Given the description of an element on the screen output the (x, y) to click on. 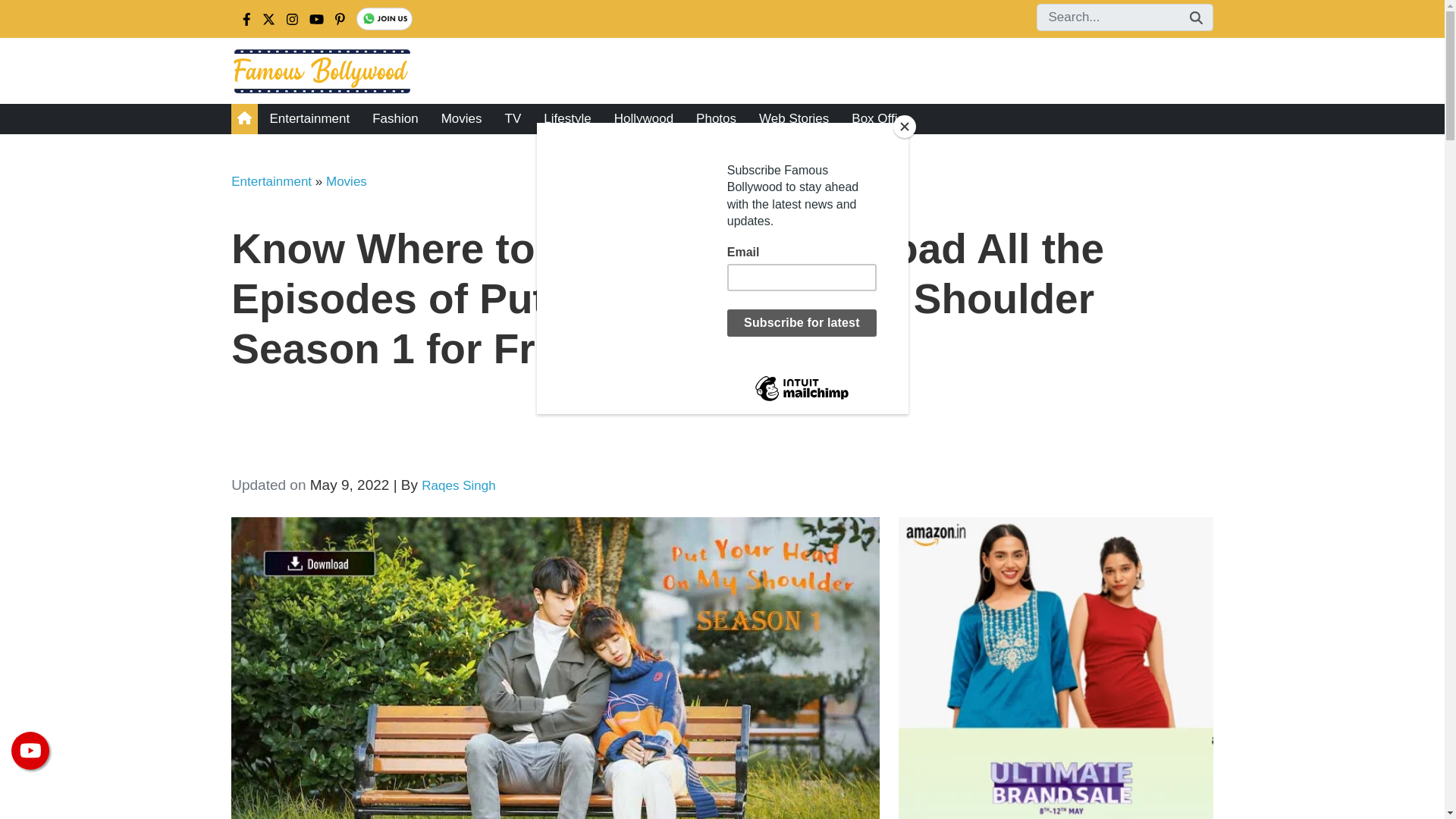
Search for: (1123, 17)
Web Stories (794, 118)
Raqes Singh (458, 485)
Entertainment (271, 181)
Hollywood (643, 118)
Box Office (880, 118)
Movies (346, 181)
Advertisement (686, 427)
Entertainment (309, 118)
Fashion (395, 118)
Photos (716, 118)
Lifestyle (567, 118)
TV (512, 118)
Movies (461, 118)
